Given the description of an element on the screen output the (x, y) to click on. 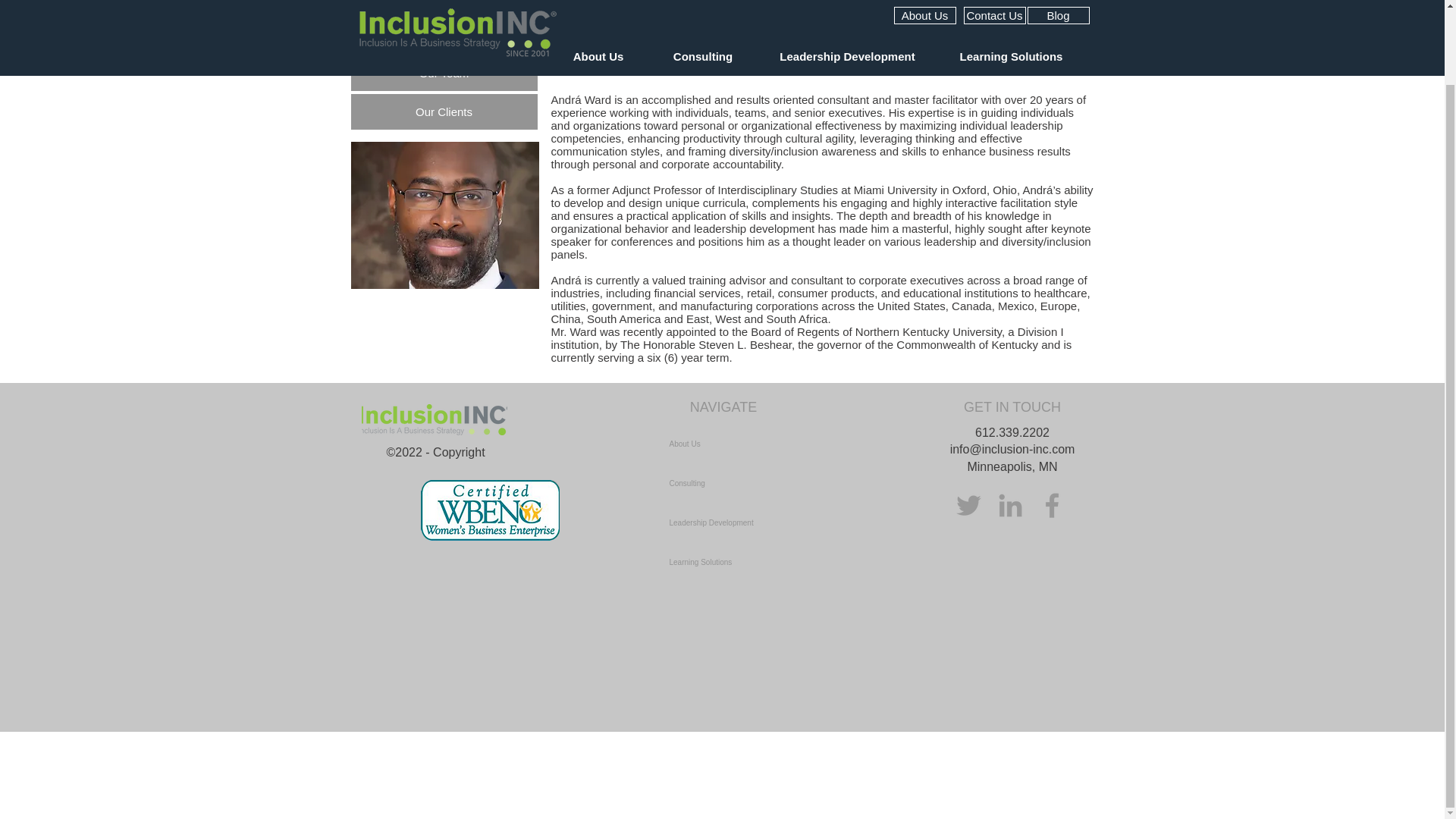
About Us (775, 444)
Consulting (775, 483)
Our Clients (443, 111)
Learning Solutions (775, 562)
About Us (443, 33)
Leadership Development (775, 522)
Our Team (443, 72)
